Given the description of an element on the screen output the (x, y) to click on. 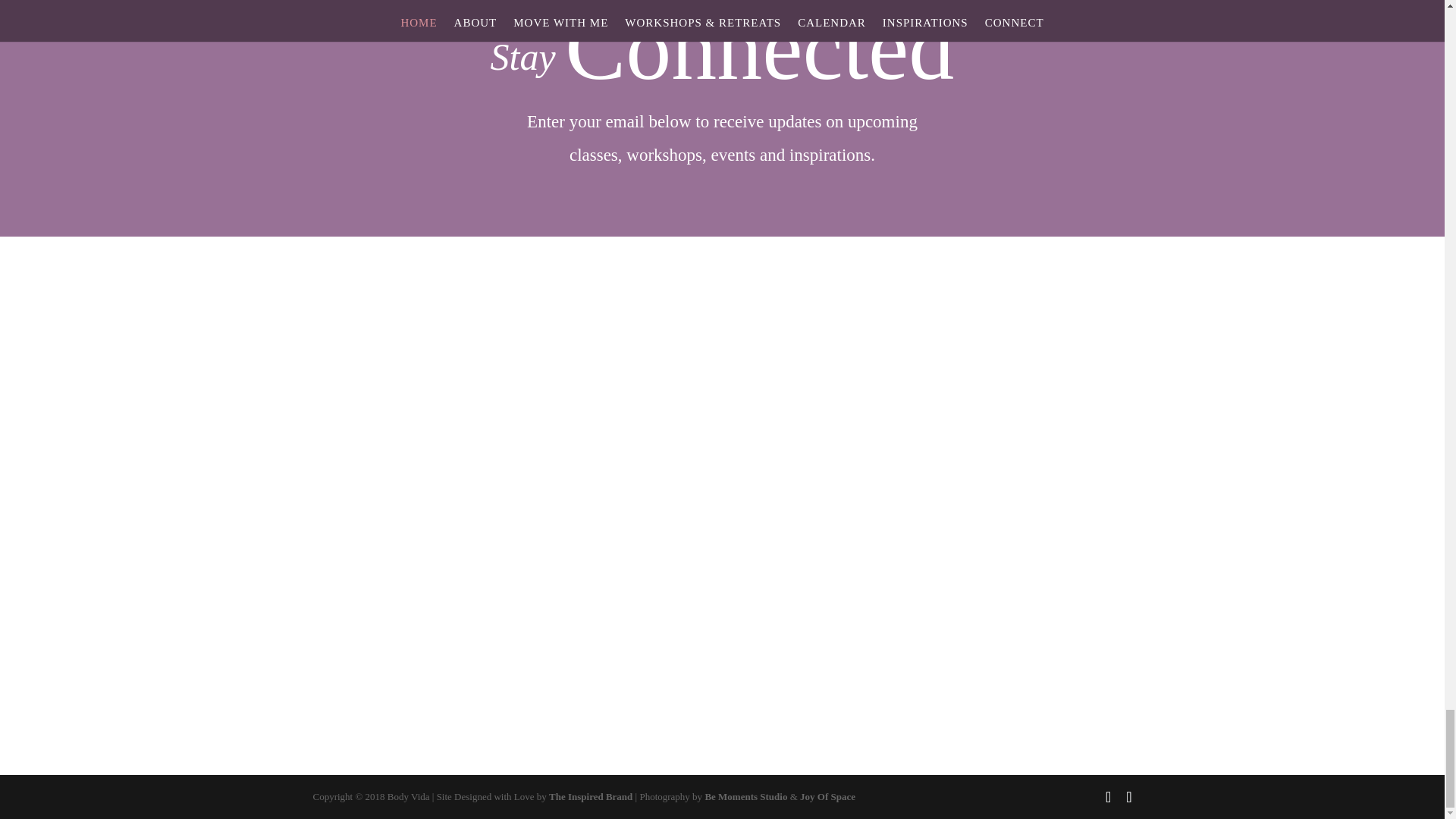
Be Moments Studio (745, 796)
Joy Of Space (827, 796)
The Inspired Brand (589, 796)
